Given the description of an element on the screen output the (x, y) to click on. 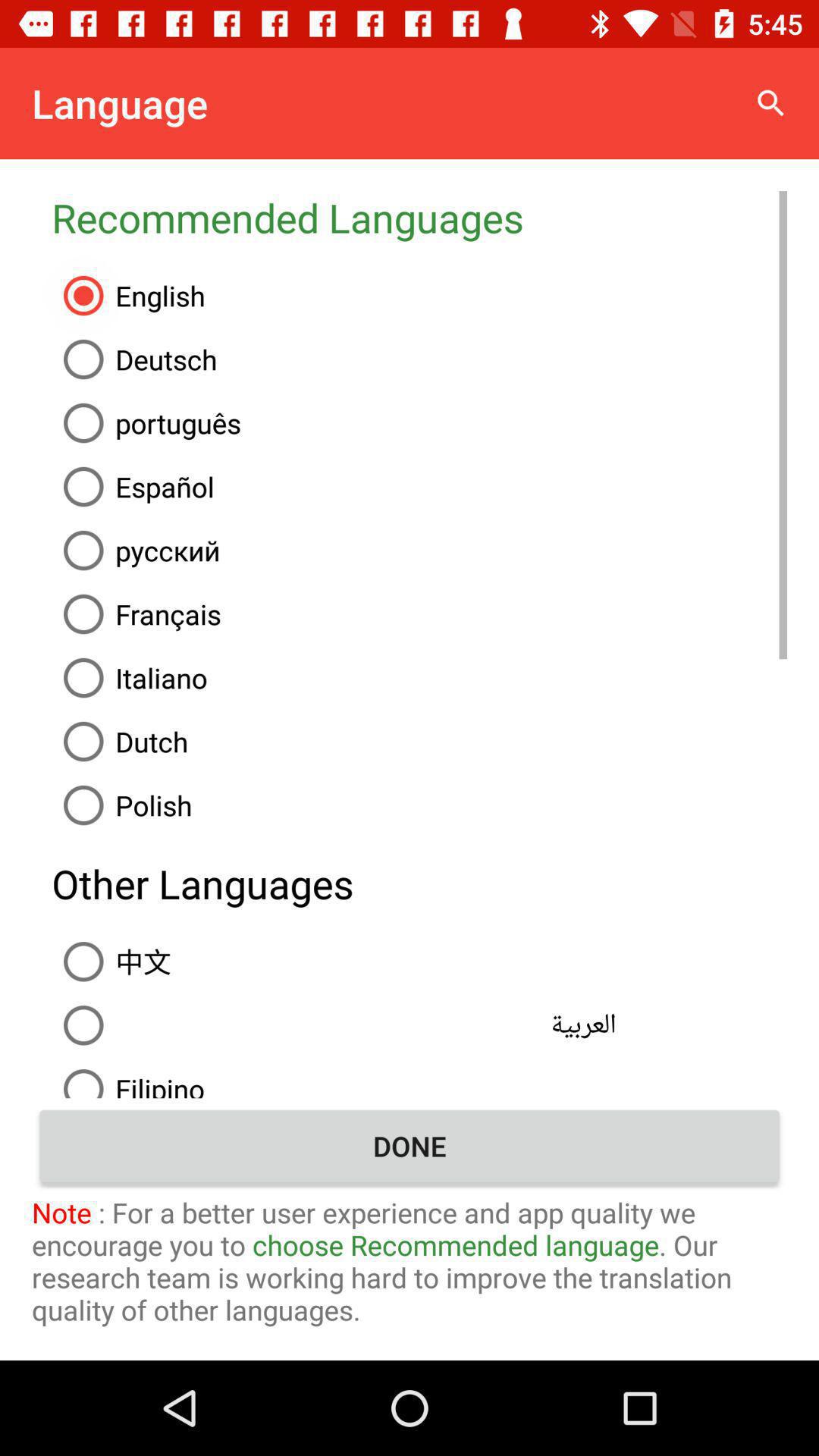
launch english (419, 295)
